Given the description of an element on the screen output the (x, y) to click on. 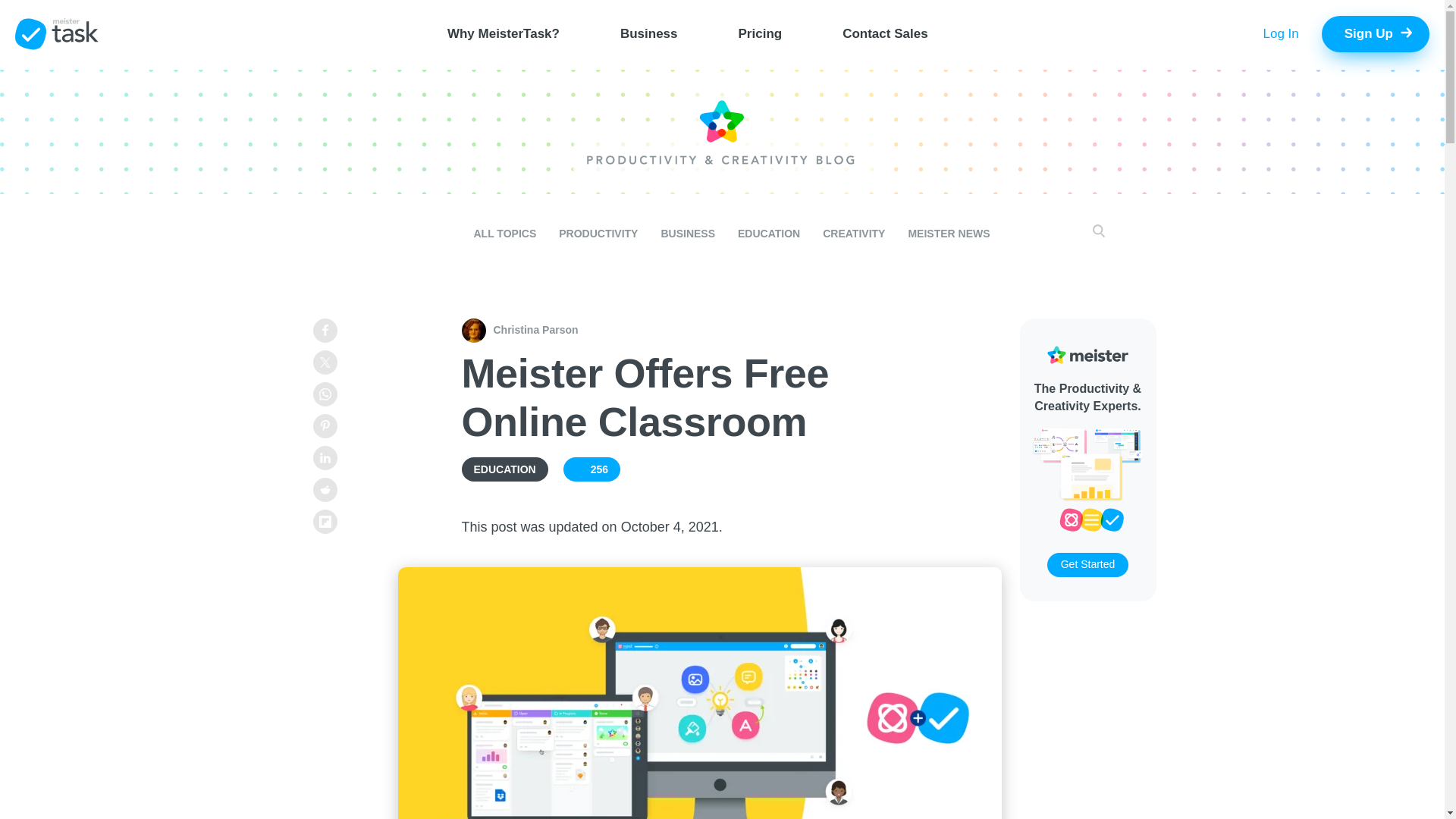
Share with WhatsApp (324, 394)
Share with Flipboard (324, 521)
Share on LinkedIn (324, 457)
PRODUCTIVITY (598, 233)
Search (1086, 233)
Business (649, 33)
Contact Sales (884, 33)
MEISTER NEWS (948, 233)
Why MeisterTask? (503, 33)
Search (1086, 233)
